Given the description of an element on the screen output the (x, y) to click on. 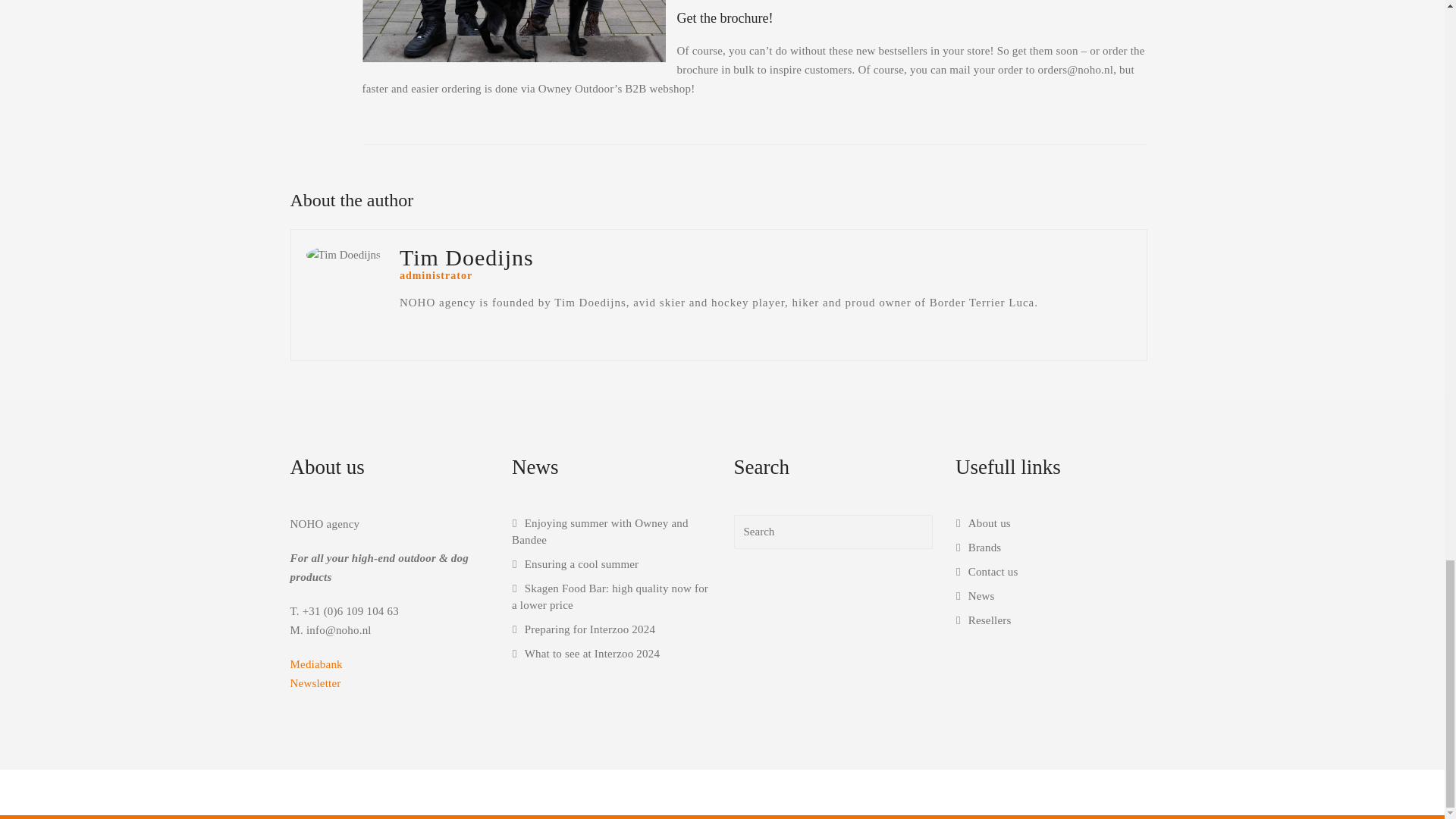
Tim Doedijns (342, 254)
Mediabank (315, 664)
Enjoying summer with Owney and Bandee (600, 531)
Preparing for Interzoo 2024 (583, 629)
Ensuring a cool summer (575, 563)
Newsletter (314, 683)
What to see at Interzoo 2024 (585, 653)
About us (982, 522)
Skagen Food Bar: high quality now for a lower price (609, 596)
